Given the description of an element on the screen output the (x, y) to click on. 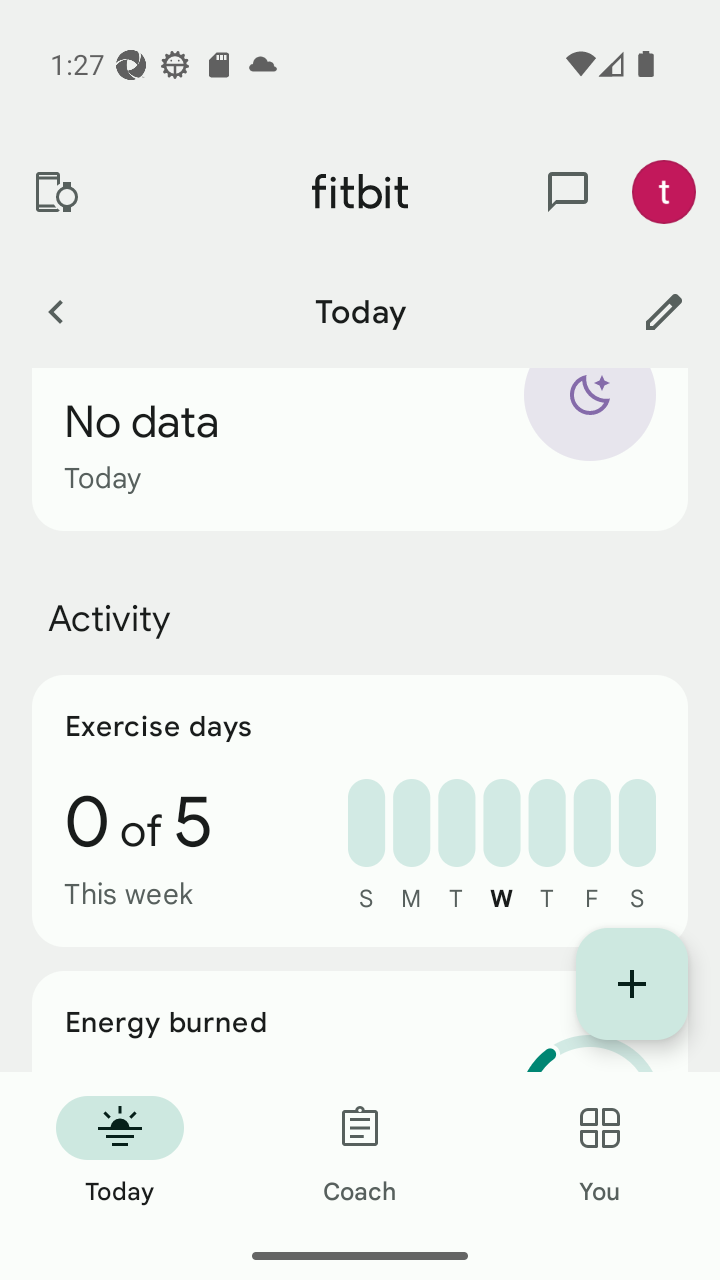
Devices and apps (55, 191)
messages and notifications (567, 191)
Previous Day (55, 311)
Customize (664, 311)
No data Today Sleep static arc (359, 449)
Exercise days 0 of 5 This week (359, 810)
Display list of quick log entries (632, 983)
Energy burned (359, 1021)
Coach (359, 1151)
You (600, 1151)
